Given the description of an element on the screen output the (x, y) to click on. 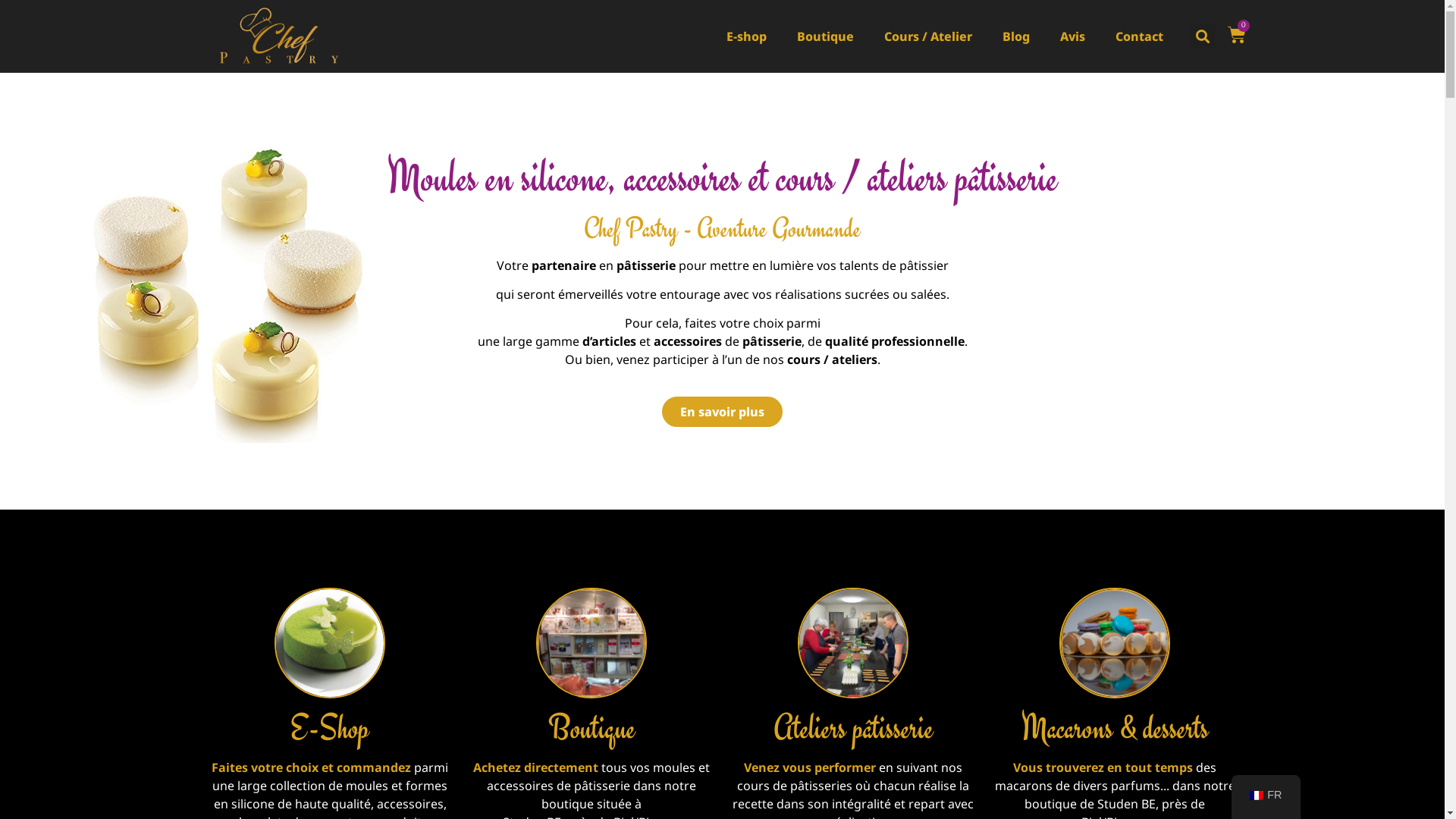
Boutique Element type: text (590, 727)
0 Element type: text (1235, 35)
En savoir plus Element type: text (722, 411)
E-Shop Element type: text (329, 727)
Macarons & desserts Element type: text (1114, 727)
Cours / Atelier Element type: text (928, 36)
Contact Element type: text (1138, 36)
Avis Element type: text (1072, 36)
FR Element type: text (1265, 795)
Boutique Element type: text (824, 36)
E-shop Element type: text (746, 36)
Blog Element type: text (1015, 36)
